Given the description of an element on the screen output the (x, y) to click on. 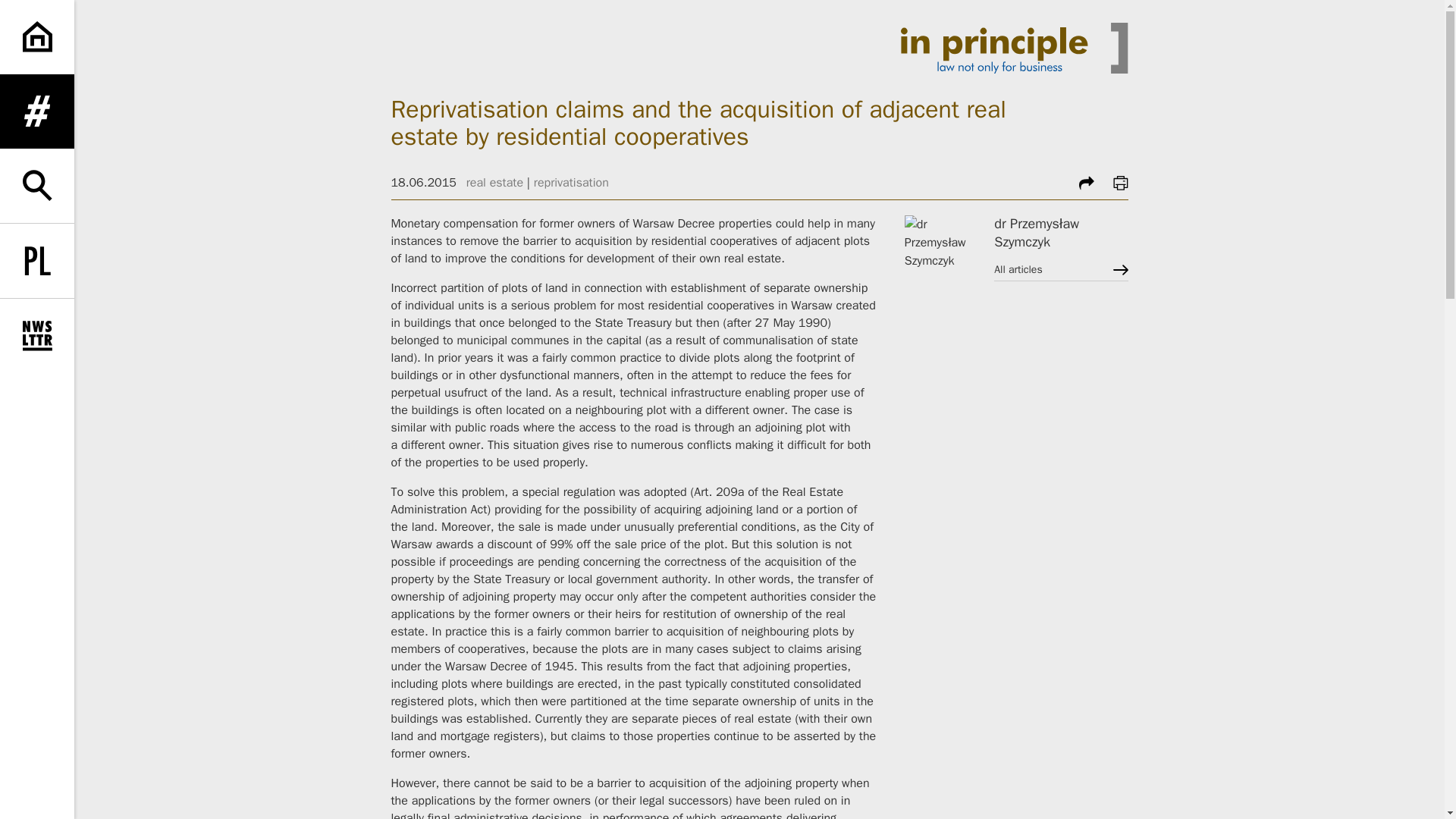
expand menu (37, 111)
expand newsletter subscription form (37, 335)
expand search form (37, 185)
